Given the description of an element on the screen output the (x, y) to click on. 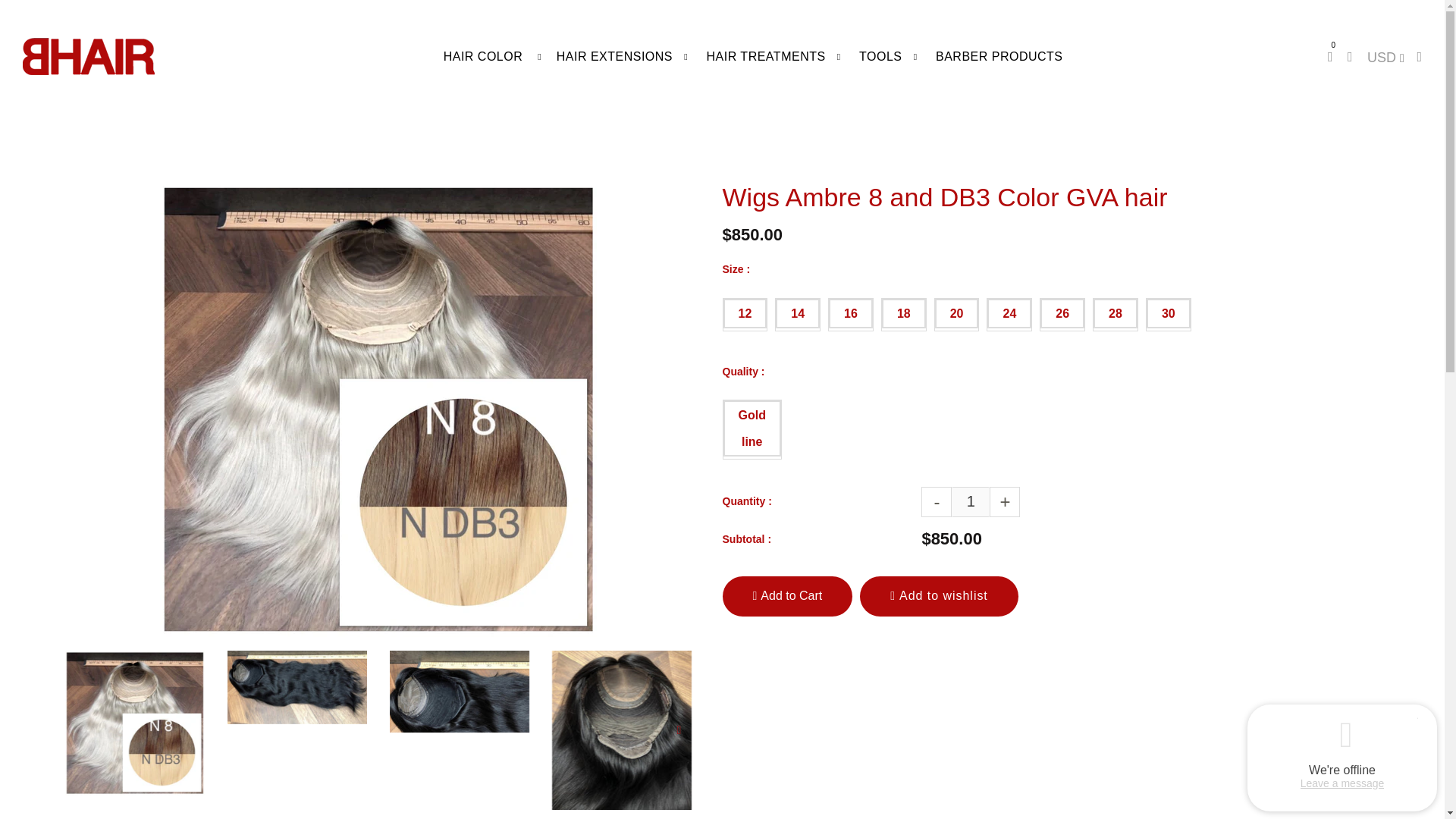
HAIR COLOR (483, 55)
HAIR EXTENSIONS (614, 55)
Leave a message (1342, 783)
We're offline (1342, 770)
1 (971, 501)
